Given the description of an element on the screen output the (x, y) to click on. 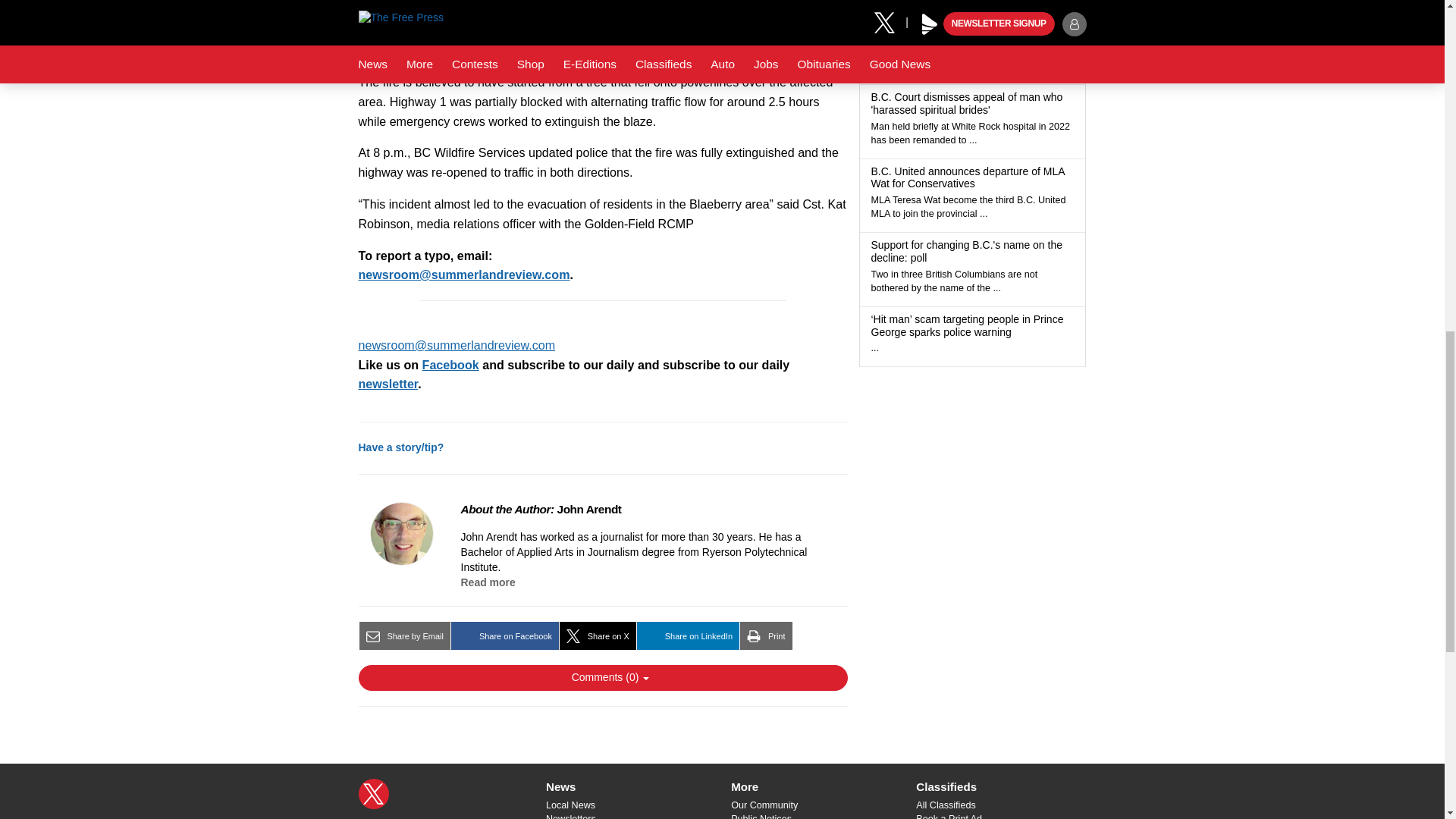
Has a gallery (984, 36)
X (373, 793)
Show Comments (602, 678)
